Given the description of an element on the screen output the (x, y) to click on. 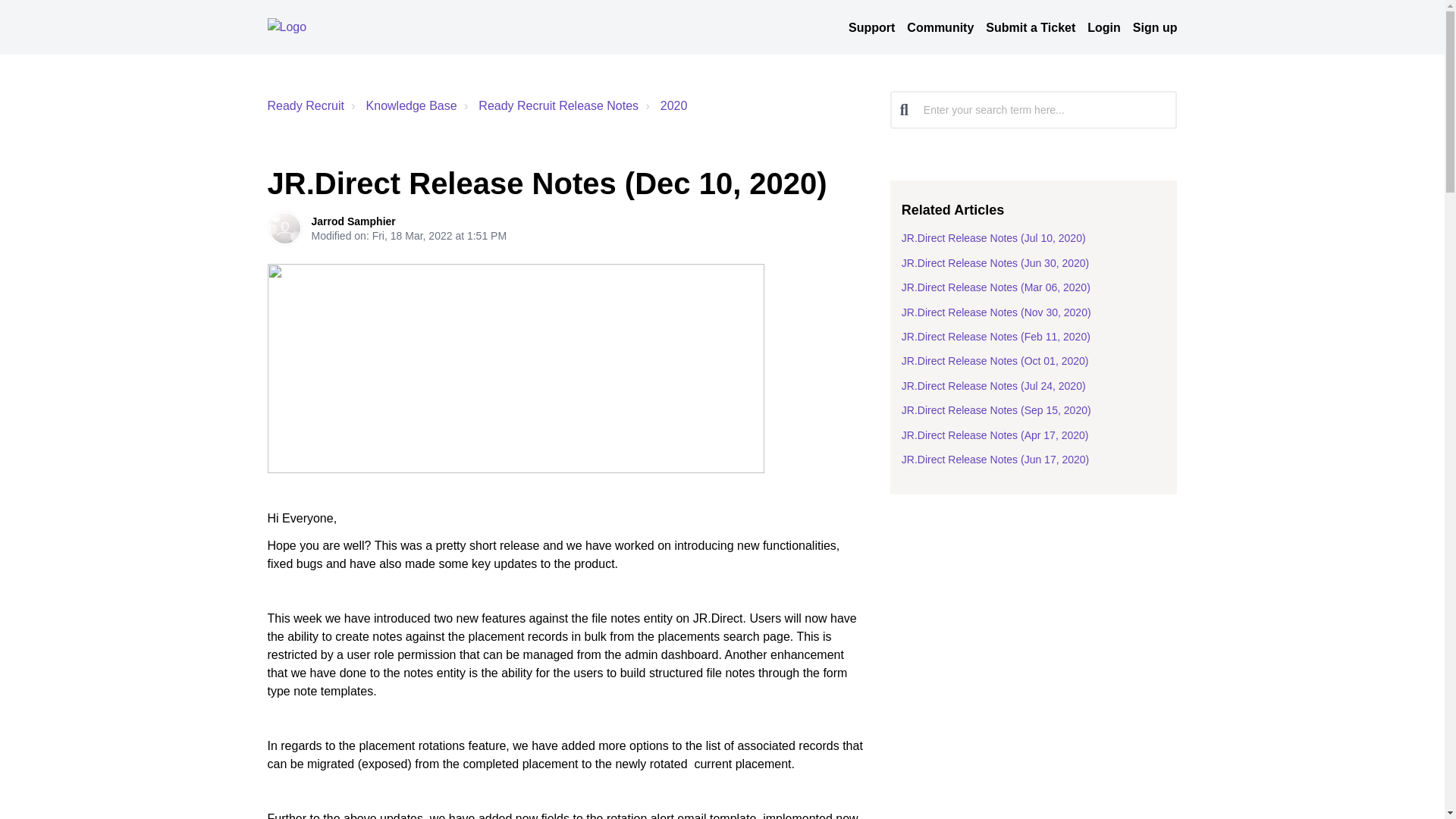
2020 (664, 106)
Ready Recruit Release Notes (559, 105)
Ready Recruit (304, 105)
Support (871, 28)
Knowledge Base (411, 105)
Submit a Ticket (1030, 28)
Login (1104, 28)
Sign up (1154, 28)
Community (940, 28)
2020 (674, 105)
Solution home (402, 106)
Ready Recruit Release Notes (549, 106)
